Given the description of an element on the screen output the (x, y) to click on. 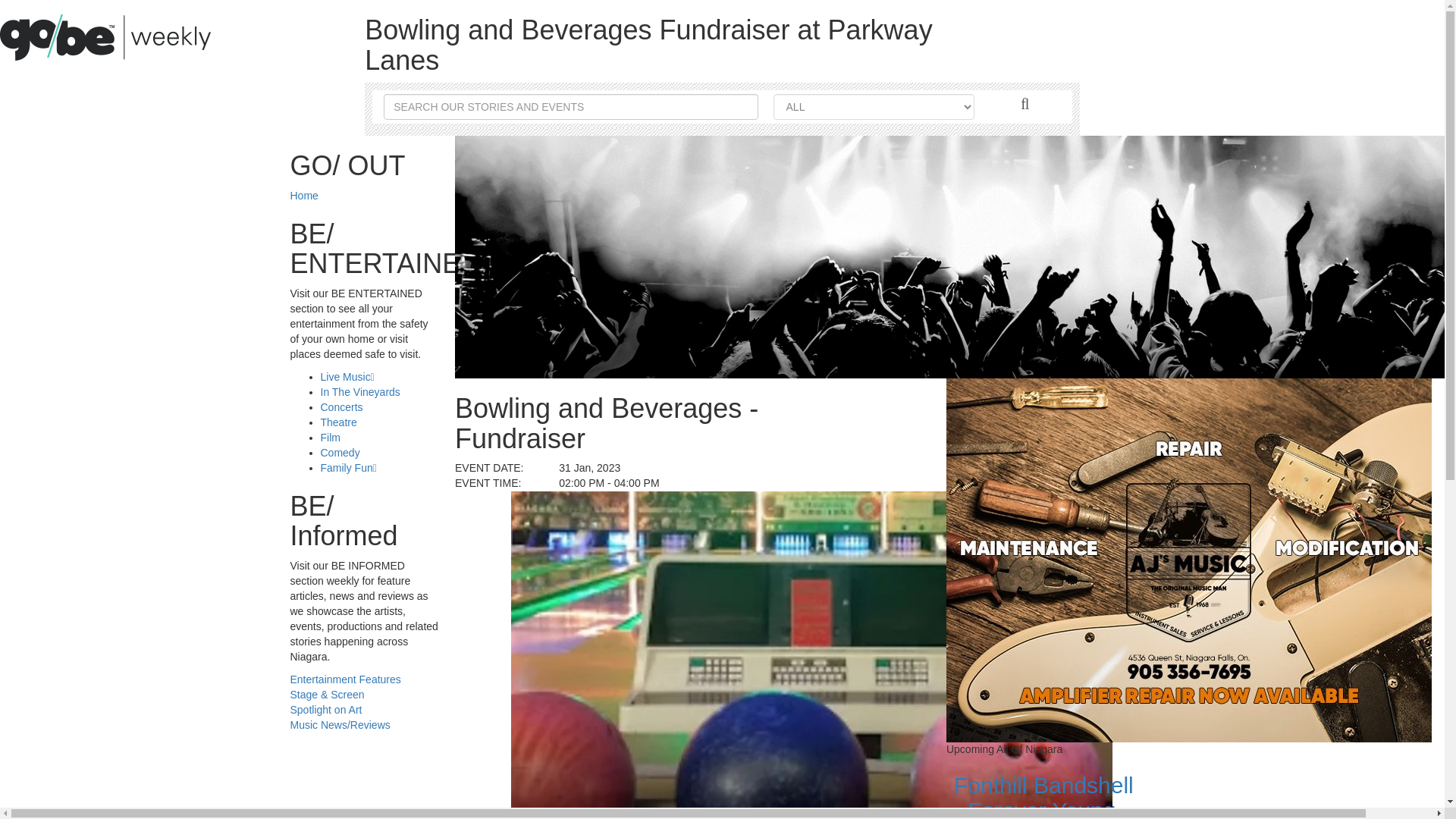
Home (303, 195)
Live Music (347, 377)
